Given the description of an element on the screen output the (x, y) to click on. 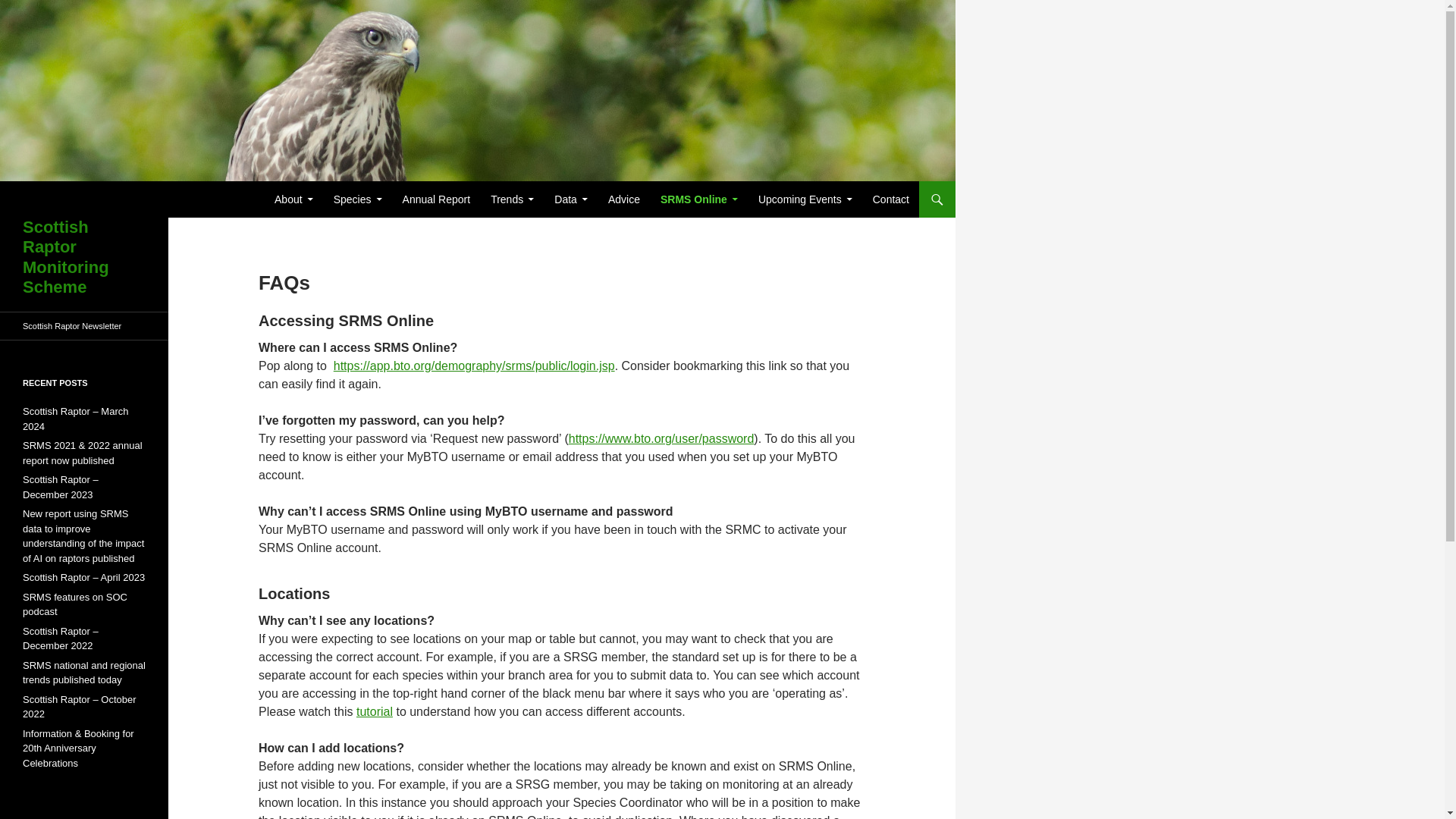
About (292, 198)
Species (357, 198)
